Given the description of an element on the screen output the (x, y) to click on. 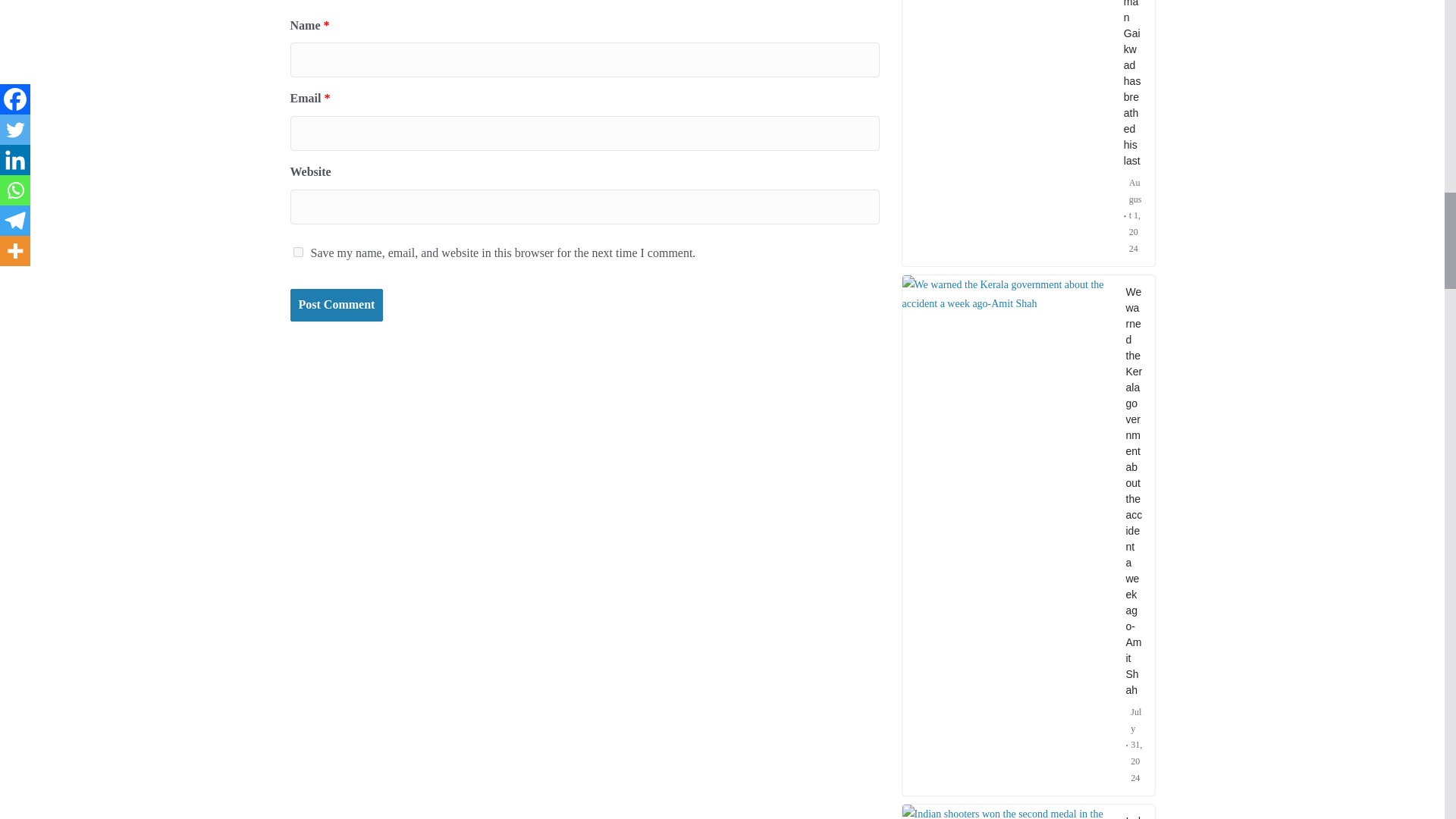
Post Comment (335, 305)
yes (297, 252)
